Given the description of an element on the screen output the (x, y) to click on. 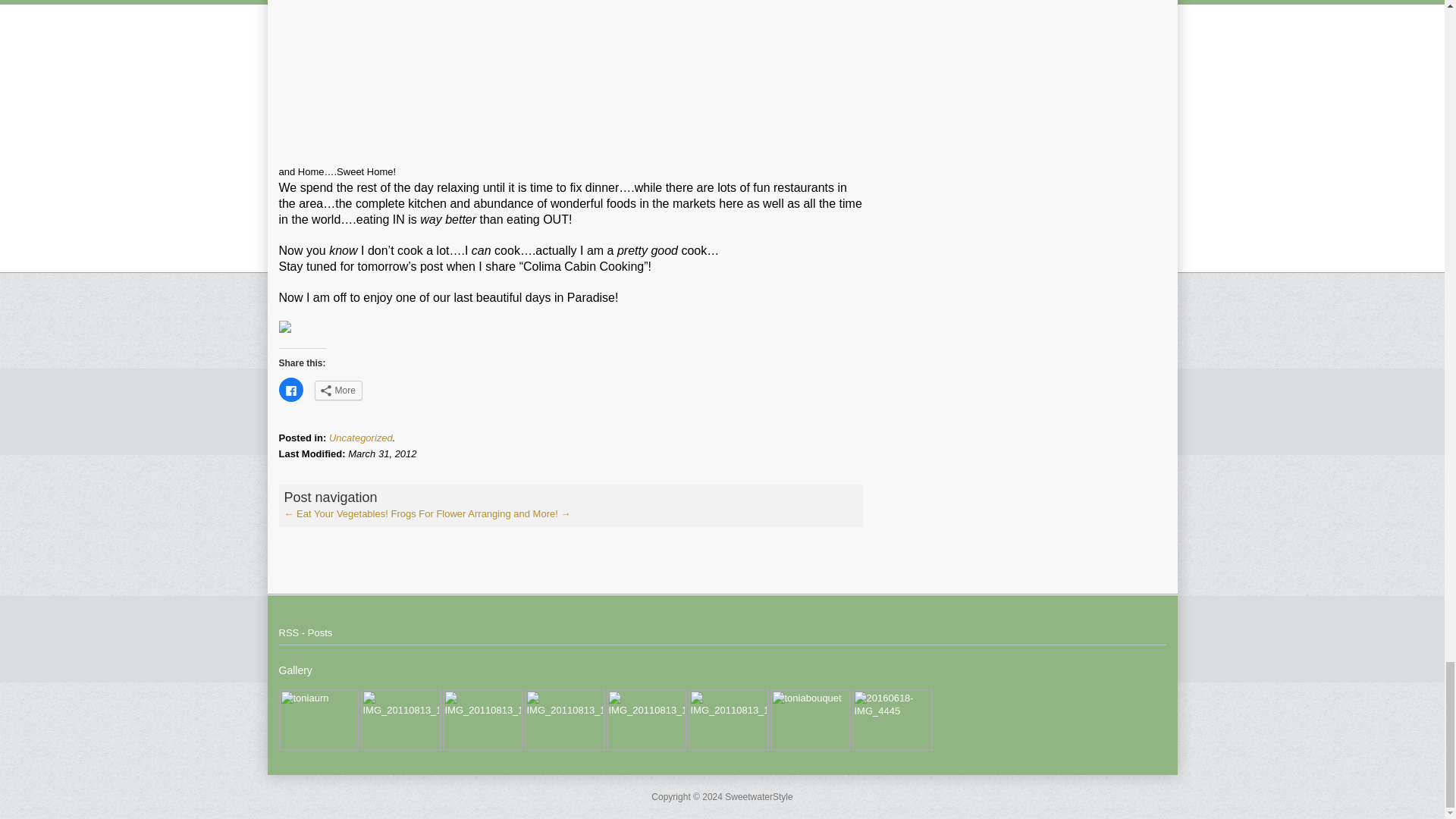
toniaurn (319, 720)
Uncategorized (361, 437)
Click to share on Facebook (290, 389)
RSS - Posts (306, 632)
Subscribe to Posts (306, 632)
More (337, 390)
